Given the description of an element on the screen output the (x, y) to click on. 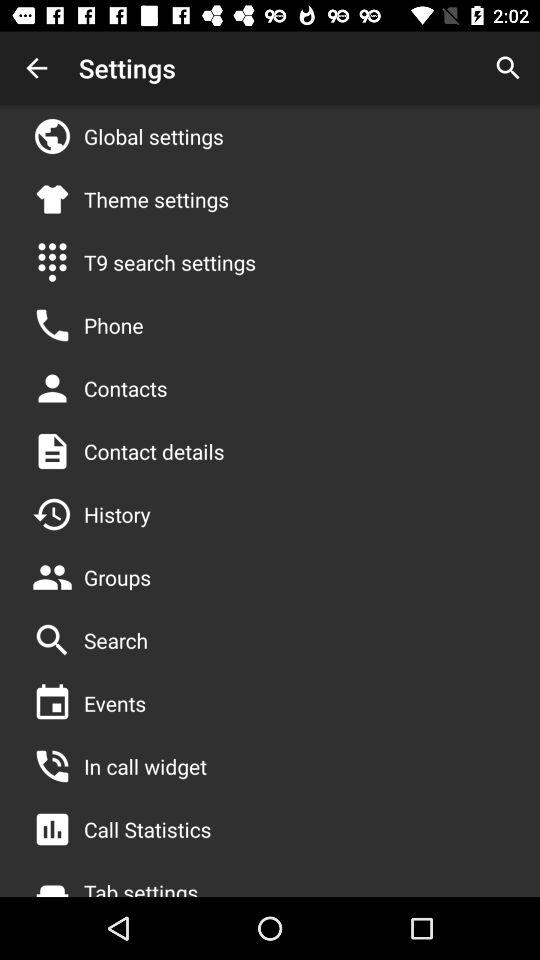
choose item next to the settings icon (36, 68)
